Given the description of an element on the screen output the (x, y) to click on. 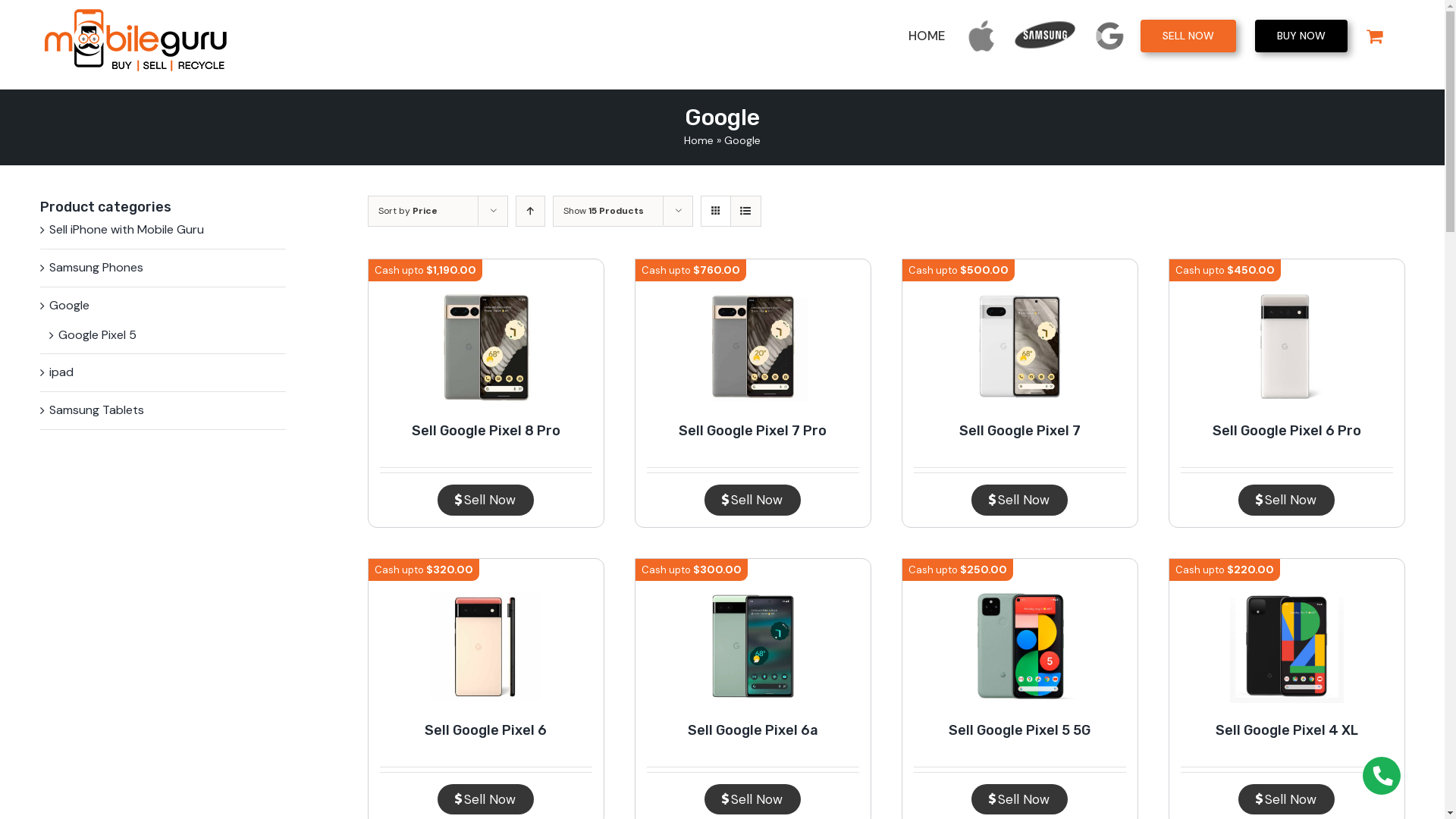
Samsung Phones Element type: text (95, 268)
Sell Google Pixel 6 Element type: text (485, 729)
Sell Google Pixel 8 Pro Element type: text (485, 430)
Samsung Tablets Element type: text (95, 410)
Sell iPhone with Mobile Guru Element type: text (125, 230)
Sell Now Element type: text (1286, 499)
Sell Now Element type: text (1019, 499)
Sell Now Element type: text (1019, 799)
Sell Now Element type: text (752, 799)
Sell Google Pixel 4 XL Element type: text (1285, 729)
Sell Google Pixel 5 5G Element type: text (1019, 729)
Home Element type: text (698, 140)
Sell Google Pixel 7 Element type: text (1018, 430)
Sell Now Element type: text (752, 499)
Sell Now Element type: text (485, 499)
ipad Element type: text (60, 372)
HOME Element type: text (926, 35)
Sell Google Pixel 6a Element type: text (752, 729)
Sell Google Pixel 6 Pro Element type: text (1285, 430)
BUY NOW Element type: text (1301, 35)
Show 15 Products Element type: text (602, 210)
Google Pixel 5 Element type: text (96, 335)
Sell Now Element type: text (485, 799)
SELL NOW Element type: text (1188, 35)
Sort by Price Element type: text (406, 210)
Google Element type: text (68, 305)
Sell Now Element type: text (1286, 799)
Sell Google Pixel 7 Pro Element type: text (752, 430)
